Given the description of an element on the screen output the (x, y) to click on. 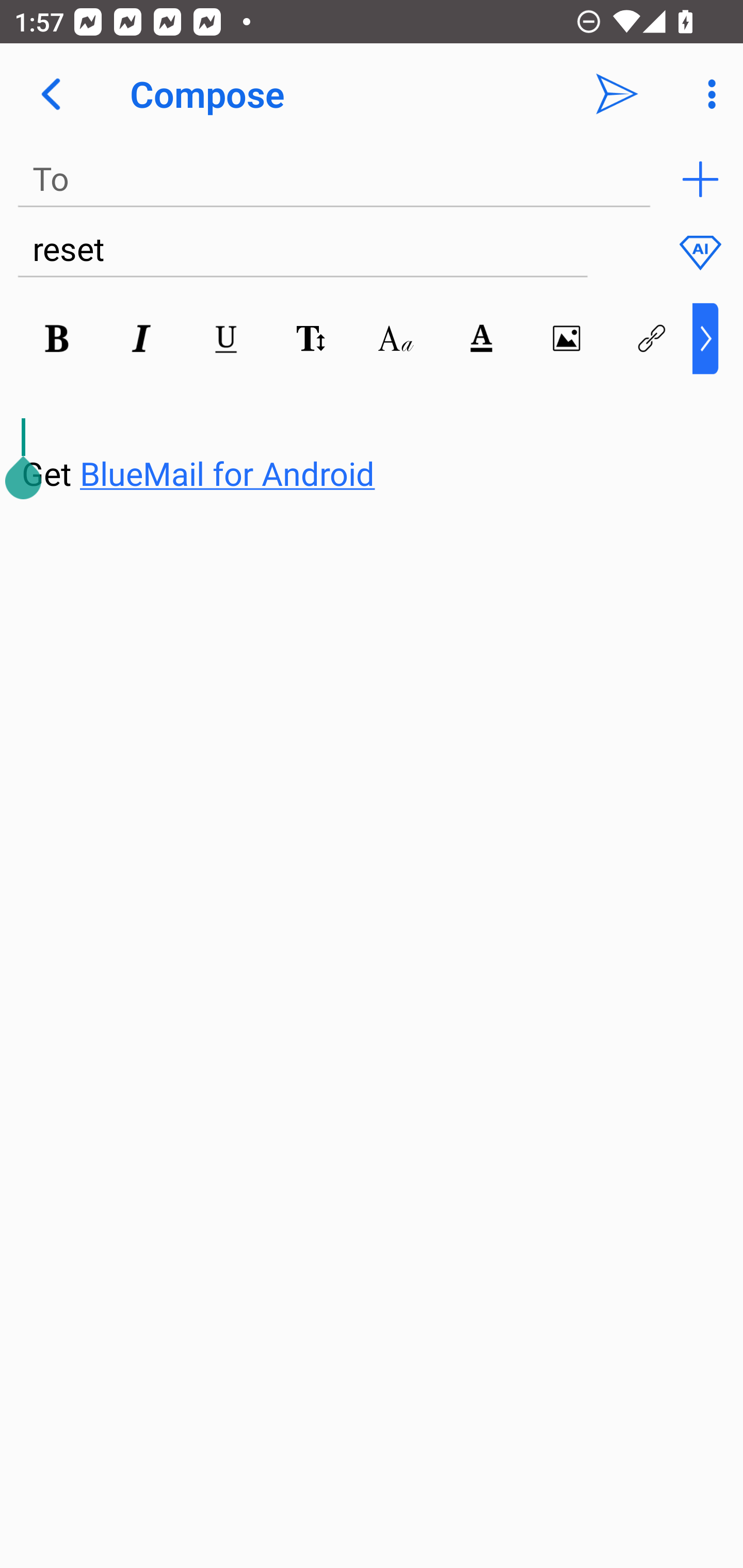
Navigate up (50, 93)
Send (616, 93)
More Options (706, 93)
To (334, 179)
Add recipient (To) (699, 179)
reset (302, 249)


⁣Get BlueMail for Android ​ (355, 435)
